Given the description of an element on the screen output the (x, y) to click on. 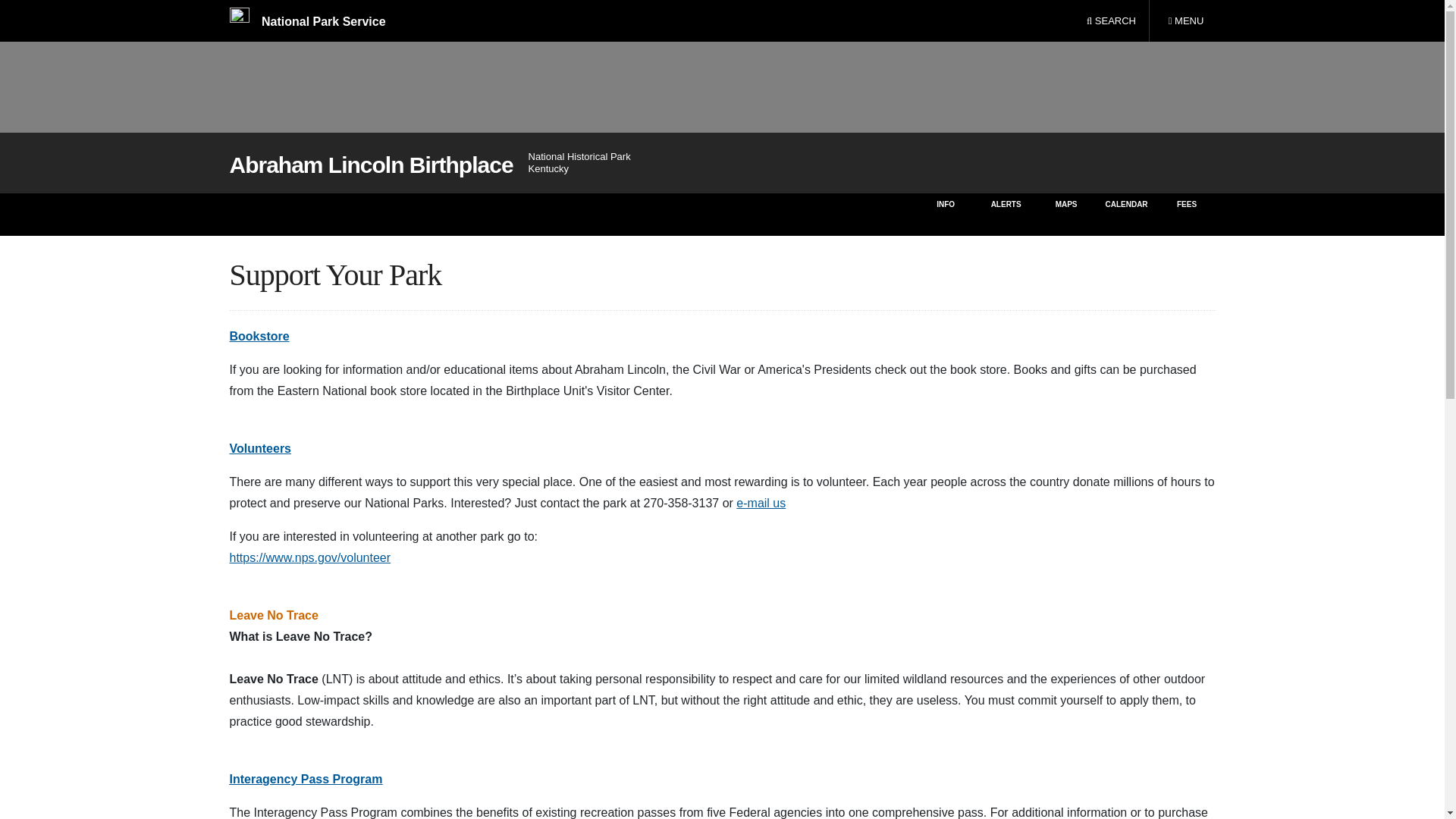
CALENDAR (1125, 214)
FEES (1186, 214)
National Park Service (307, 20)
MAPS (1066, 214)
Interagency Pass Program (304, 779)
SEARCH (1111, 20)
e-mail us (761, 502)
Volunteers (259, 448)
Abraham Lincoln Birthplace (370, 164)
INFO (945, 214)
